Given the description of an element on the screen output the (x, y) to click on. 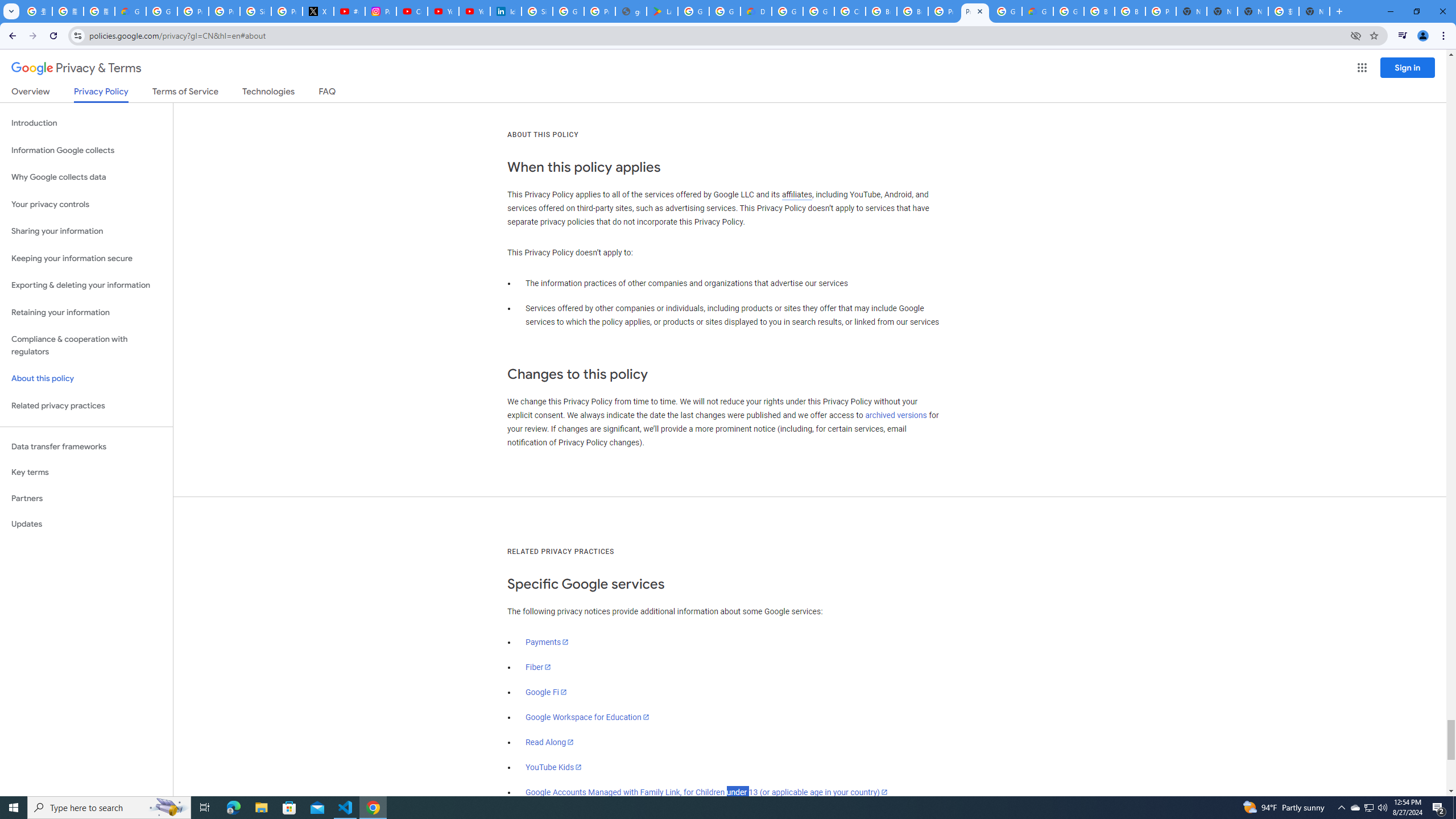
Google Cloud Platform (1005, 11)
Google Cloud Platform (787, 11)
Fiber (538, 666)
Keeping your information secure (86, 258)
About this policy (86, 379)
Your privacy controls (86, 204)
Privacy Help Center - Policies Help (223, 11)
Introduction (86, 122)
Terms of Service (184, 93)
Technologies (268, 93)
